Given the description of an element on the screen output the (x, y) to click on. 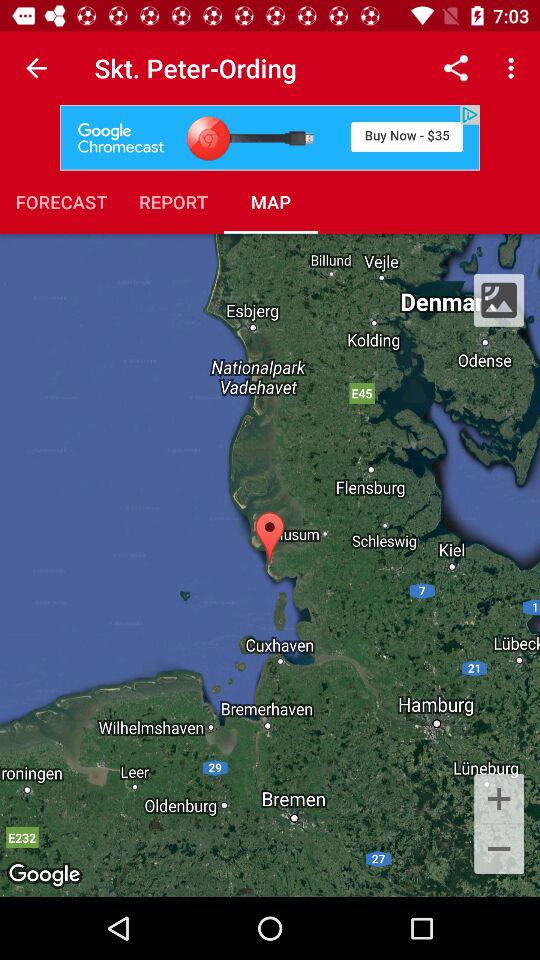
turn on icon to the right of the skt. peter-ording (455, 67)
